Given the description of an element on the screen output the (x, y) to click on. 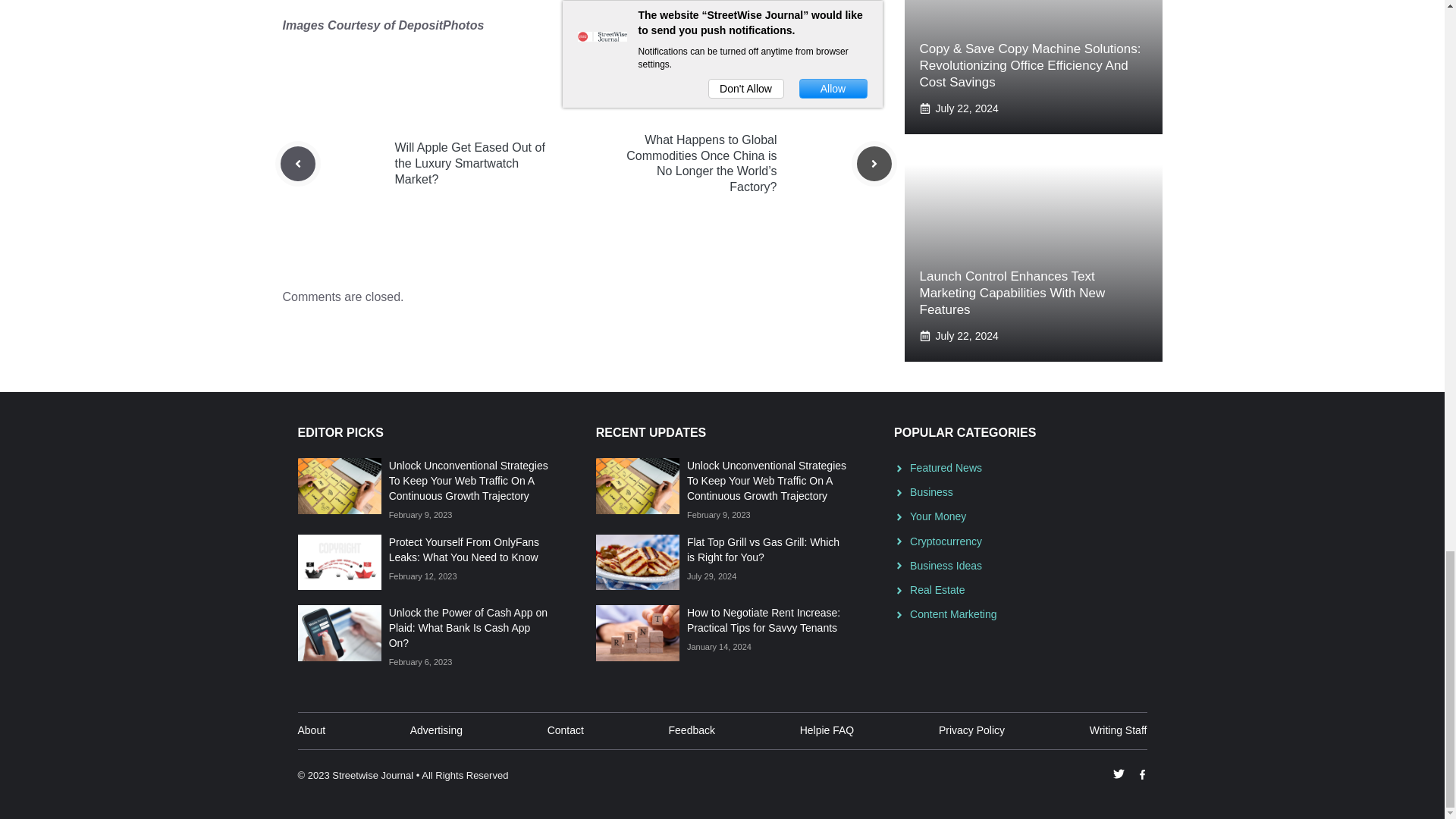
Will Apple Get Eased Out of the Luxury Smartwatch Market? (469, 162)
DepositPhotos (440, 24)
